Given the description of an element on the screen output the (x, y) to click on. 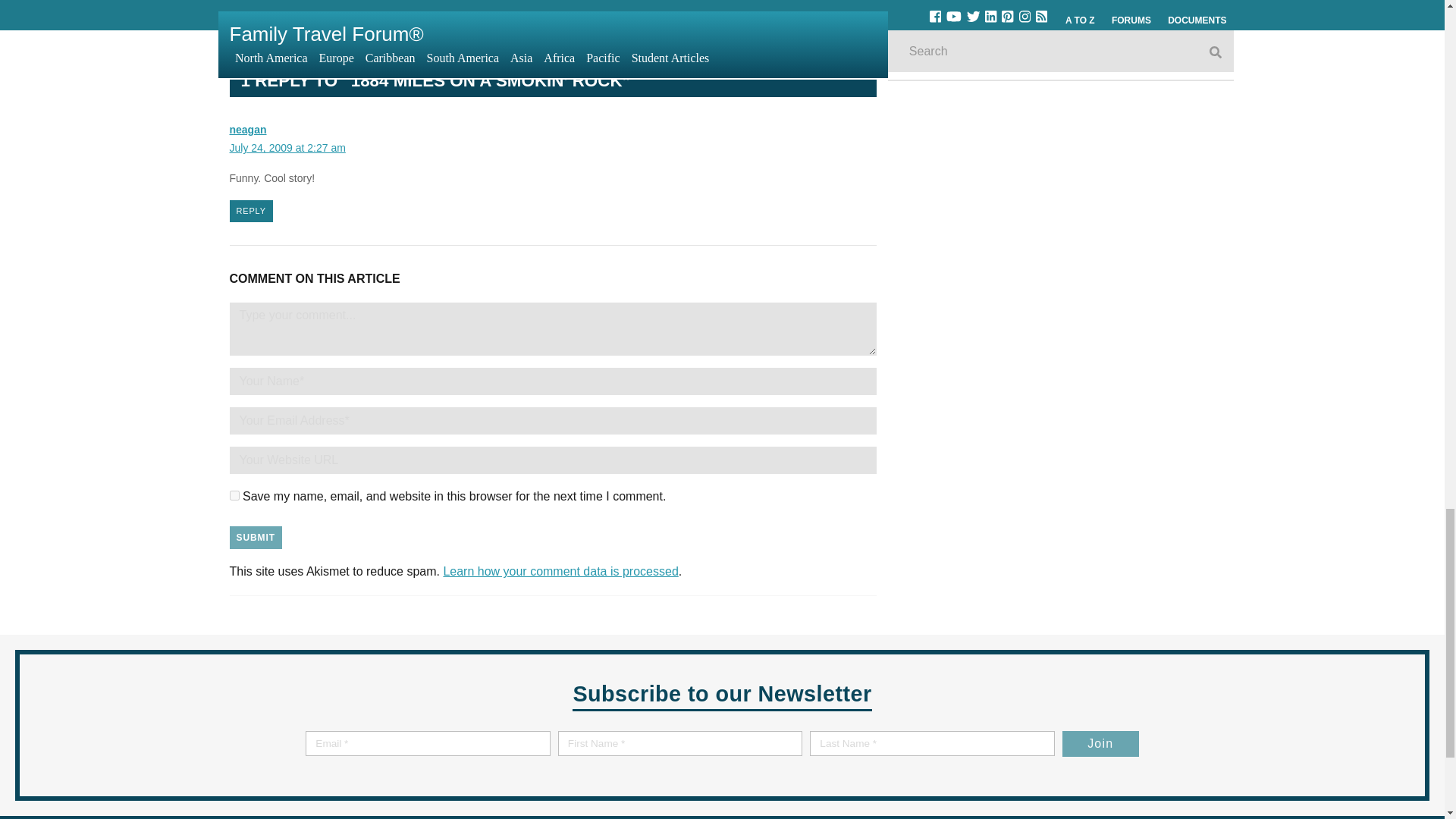
yes (710, 3)
Join (233, 495)
Learn how your comment data is processed (1100, 743)
Submit (560, 571)
July 24, 2009 at 2:27 am (254, 537)
REPLY (286, 147)
neagan (250, 210)
America's Most Popular Family Vacations (247, 129)
My Family Travels (427, 740)
Submit (279, 712)
